Given the description of an element on the screen output the (x, y) to click on. 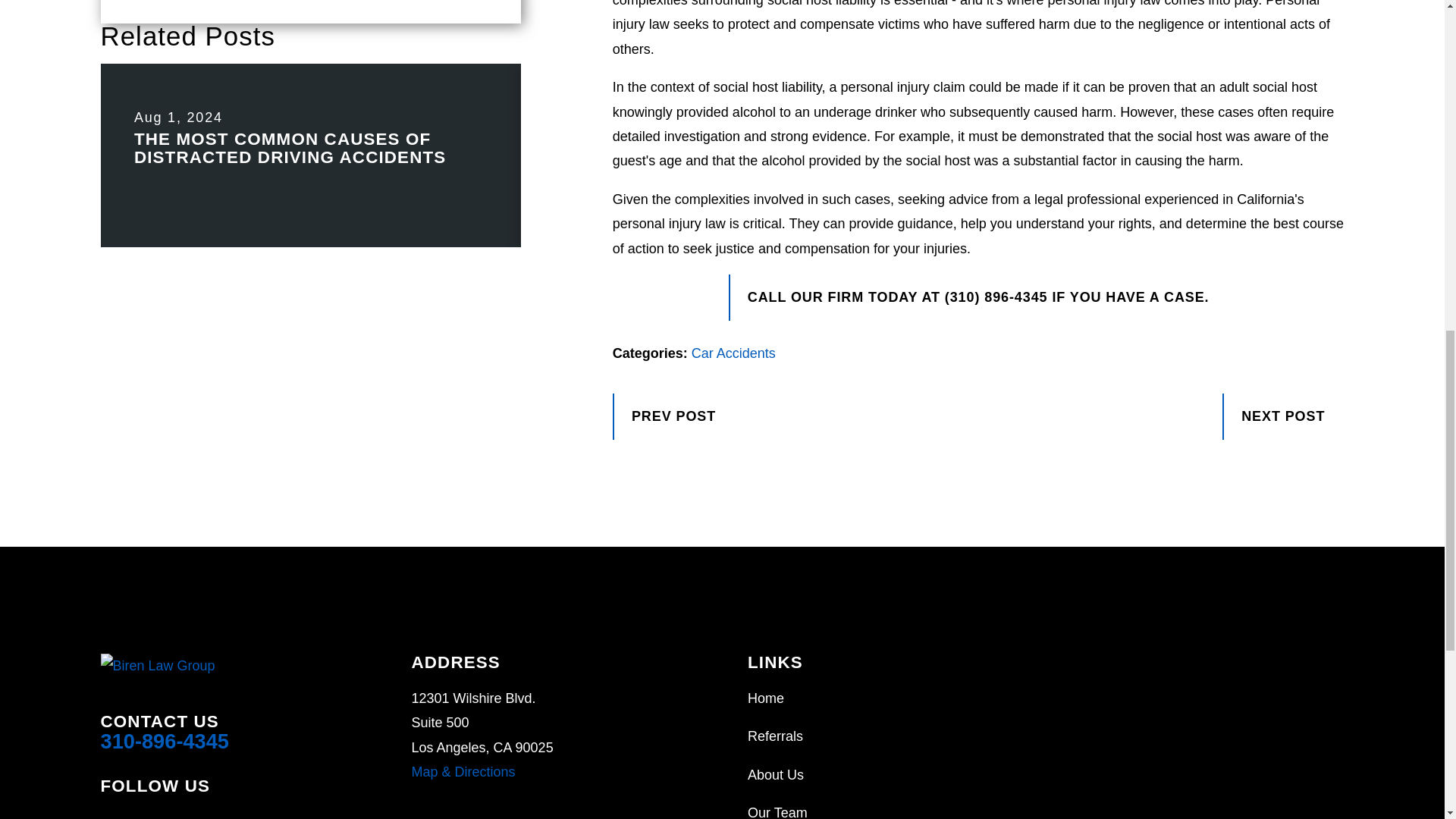
YouTube (228, 814)
Home (209, 665)
Google Business Profile (148, 814)
LinkedIn (188, 814)
Facebook (109, 814)
